Given the description of an element on the screen output the (x, y) to click on. 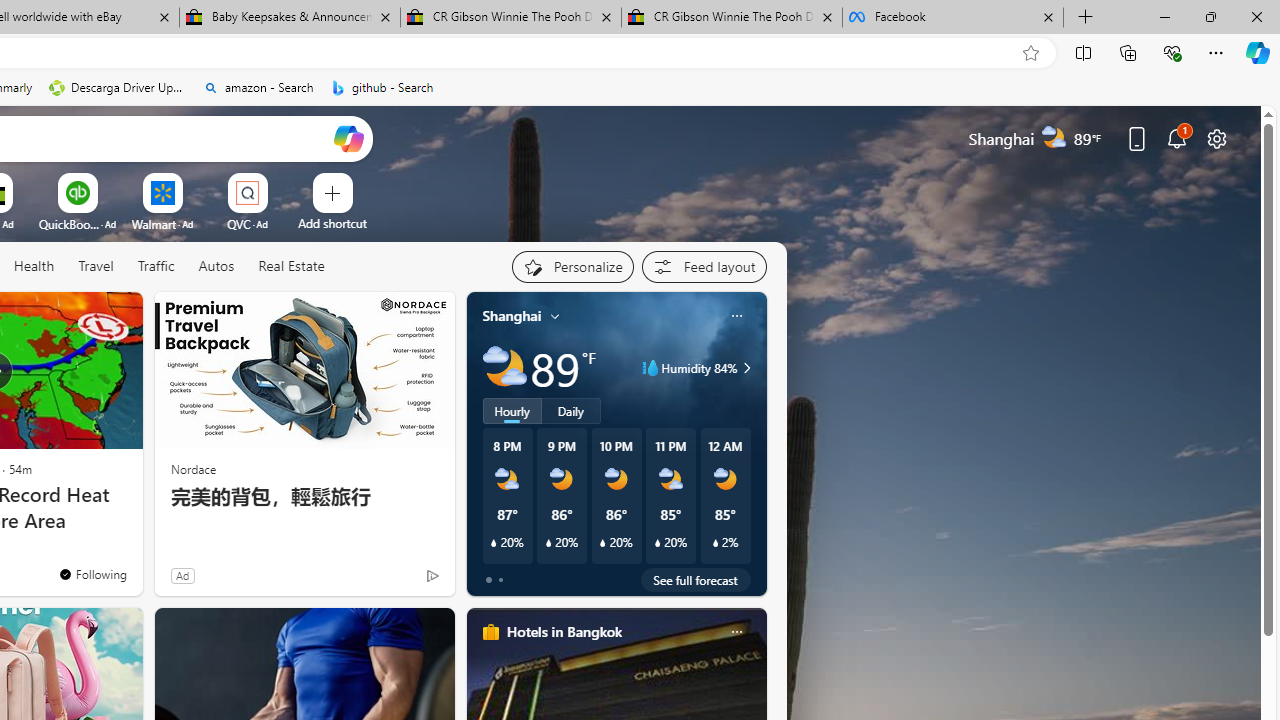
hotels-header-icon (490, 632)
